Given the description of an element on the screen output the (x, y) to click on. 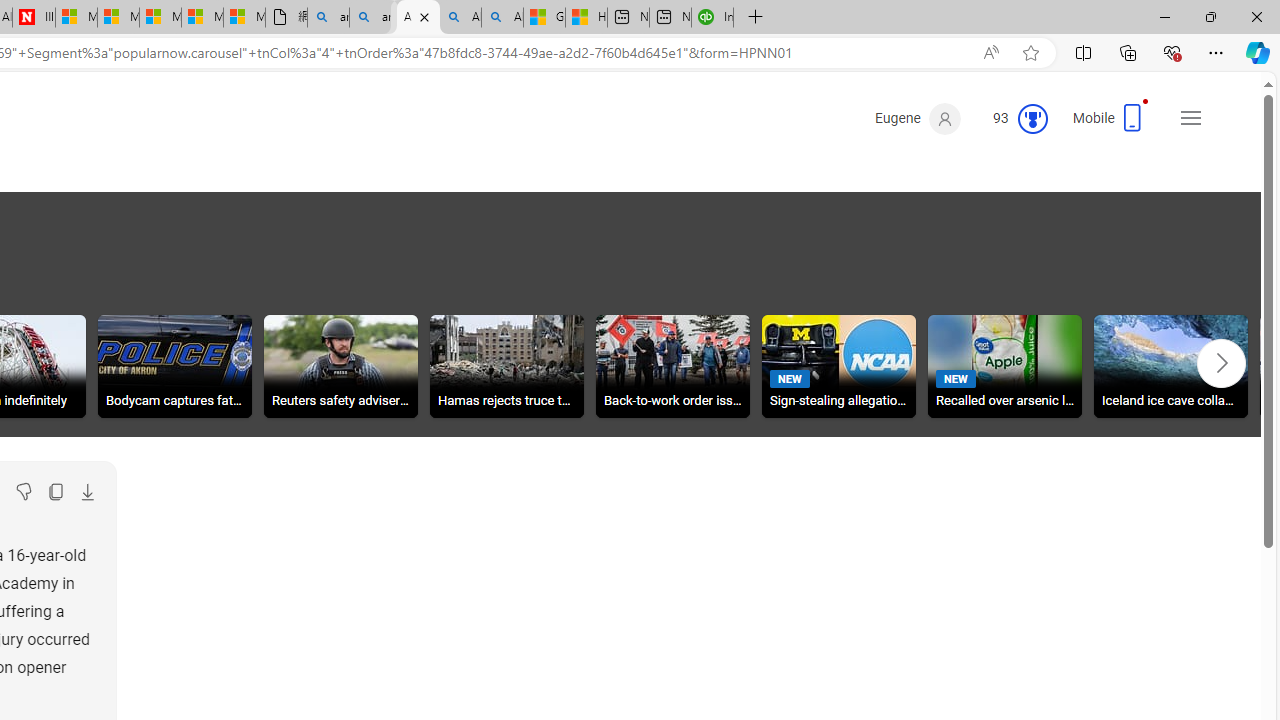
Intuit QuickBooks Online - Quickbooks (663, 17)
Illness news & latest pictures from Newsweek.com (33, 17)
Copy (55, 491)
